Given the description of an element on the screen output the (x, y) to click on. 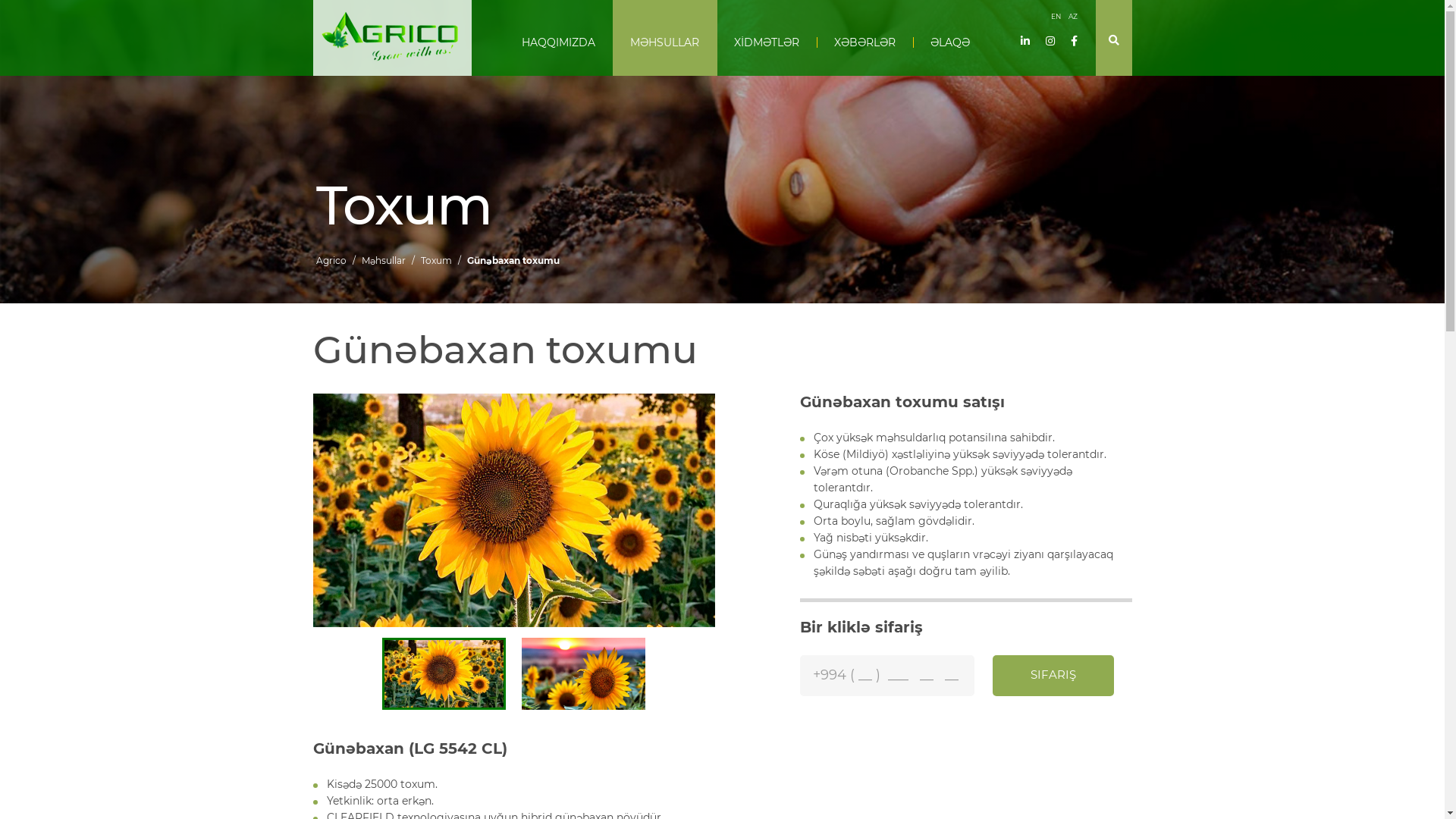
Agrico Element type: text (330, 260)
EN Element type: text (1055, 16)
HAQQIMIZDA Element type: text (557, 37)
AGRICOGrow with us! Element type: text (391, 37)
Toxum Element type: text (435, 260)
AZ Element type: text (1071, 16)
